Given the description of an element on the screen output the (x, y) to click on. 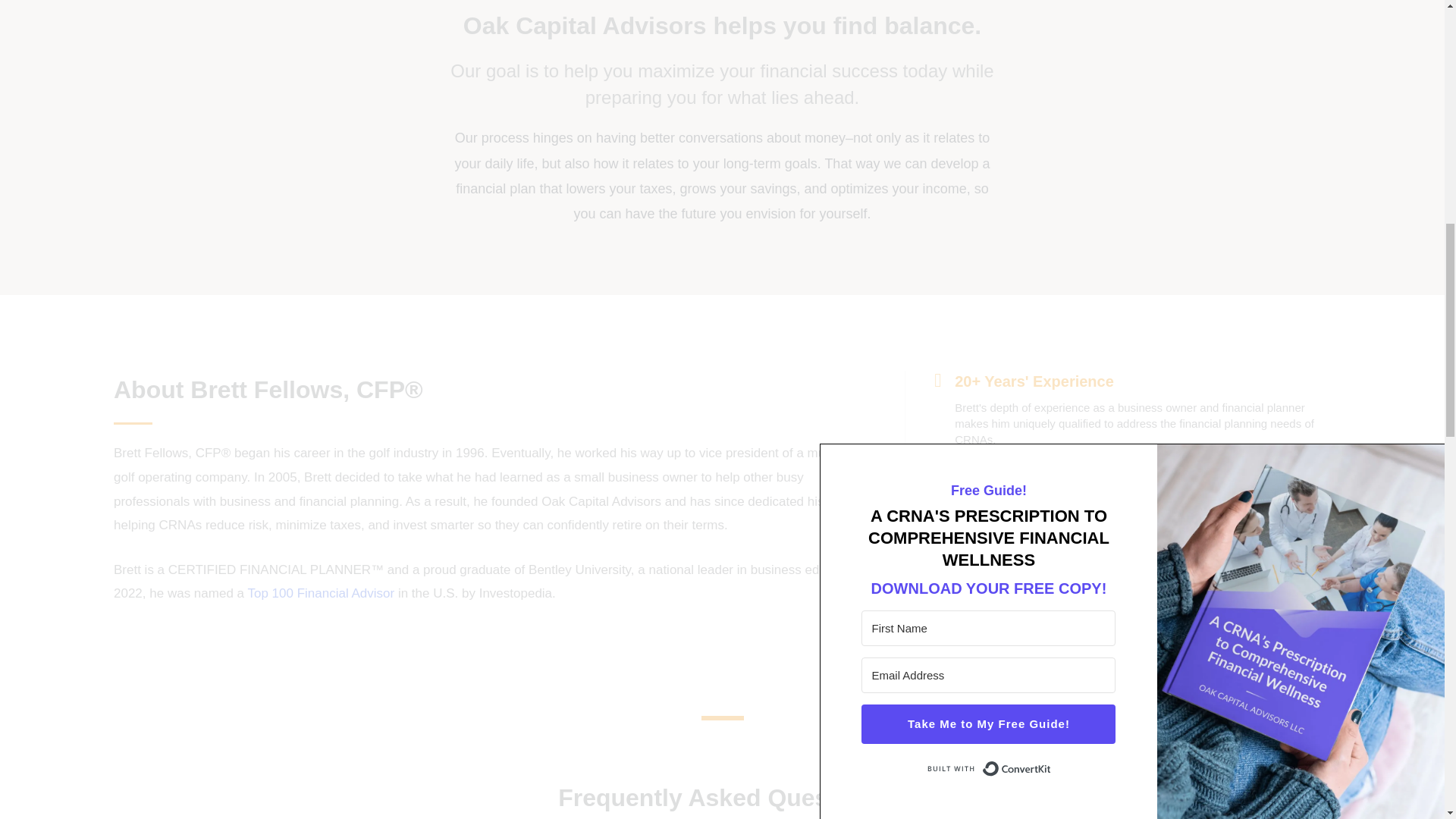
Top 100 Financial Advisor (320, 593)
